Given the description of an element on the screen output the (x, y) to click on. 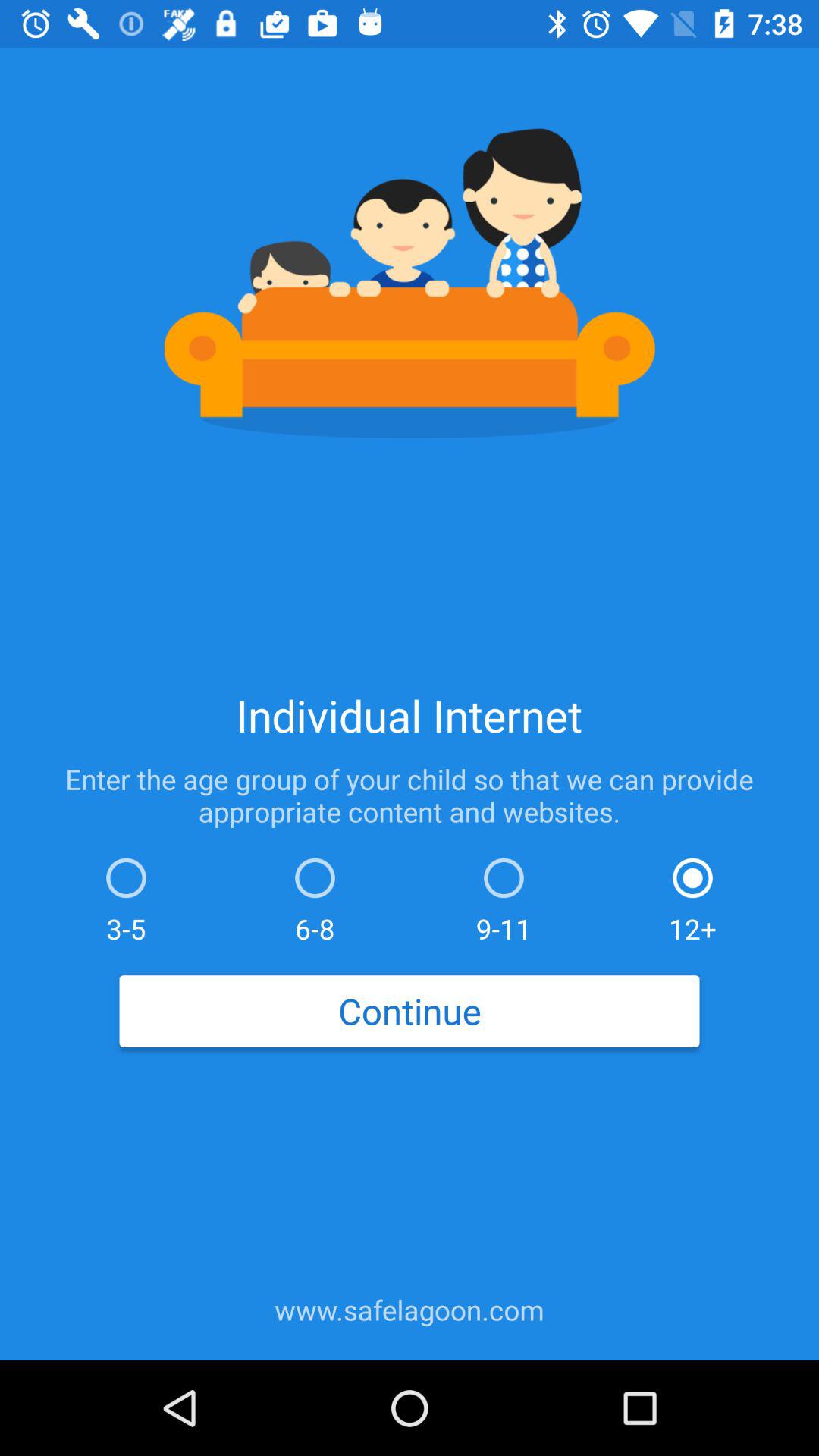
press item above the continue (125, 896)
